Given the description of an element on the screen output the (x, y) to click on. 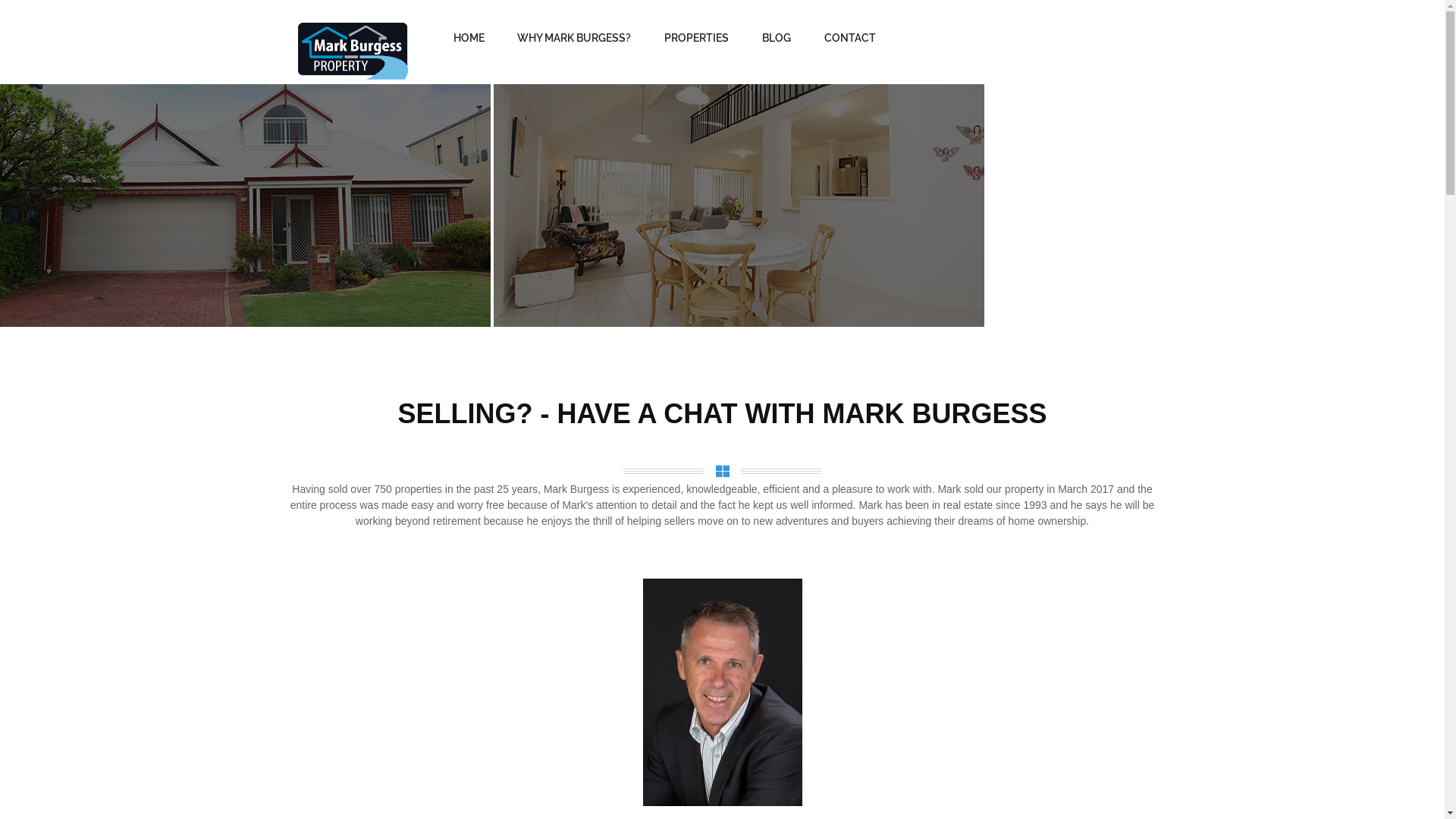
#slider-direction-189 Element type: hover (245, 205)
CONTACT Element type: text (849, 37)
BLOG Element type: text (776, 37)
HOME Element type: text (468, 37)
WHY MARK BURGESS? Element type: text (573, 37)
PROPERTIES Element type: text (696, 37)
#slider-direction-186 Element type: hover (738, 205)
